Given the description of an element on the screen output the (x, y) to click on. 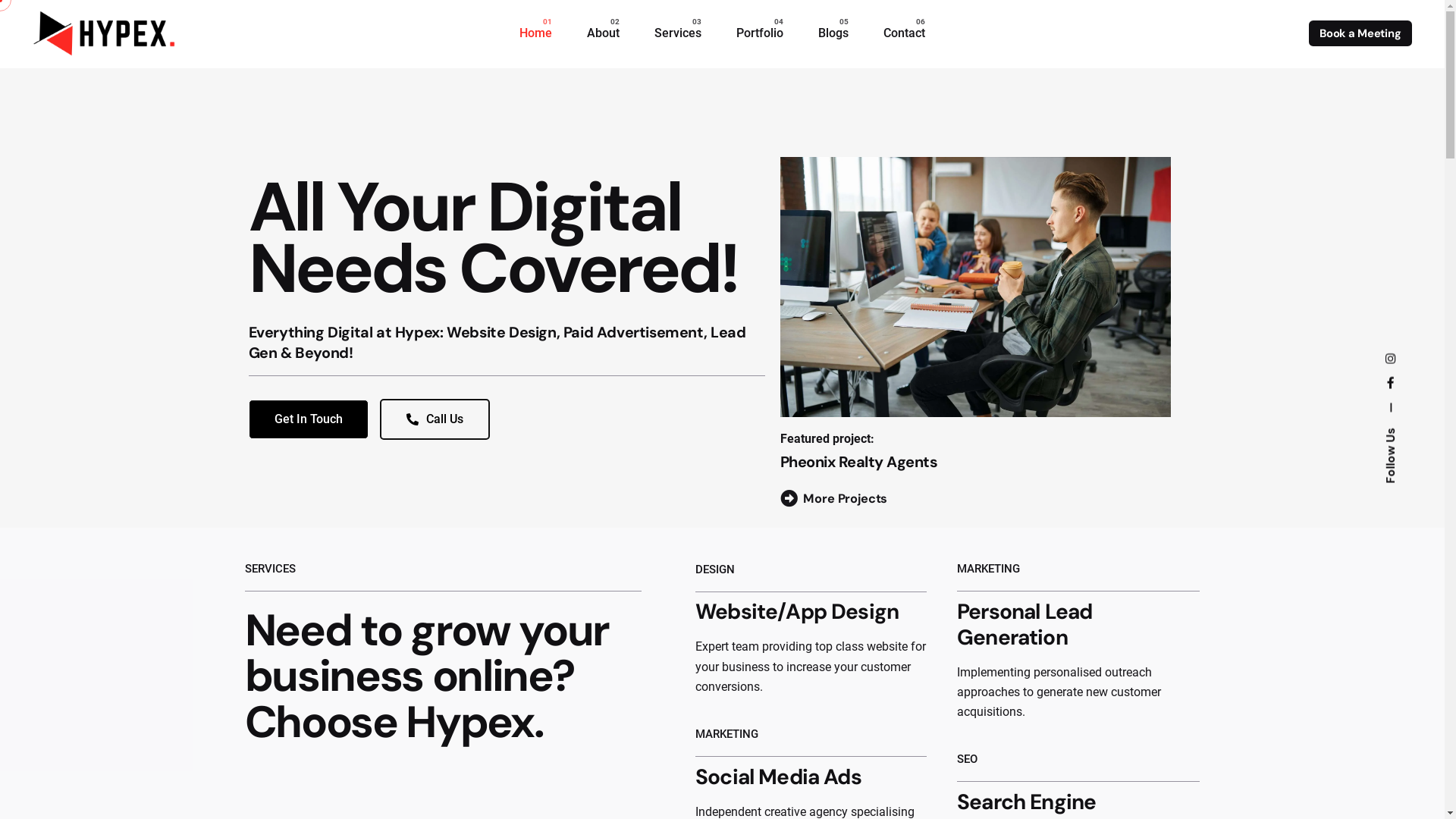
Blogs Element type: text (833, 33)
Portfolio Element type: text (759, 33)
Get In Touch Element type: text (308, 419)
Hypex.au Element type: hover (1387, 360)
About Element type: text (603, 33)
Hypex.au Element type: hover (1386, 386)
Book a Meeting Element type: text (1360, 33)
Pheonix Realty Agents Element type: text (859, 461)
Contact Element type: text (904, 33)
Social Media Ads Element type: text (778, 776)
More Projects Element type: text (834, 498)
Home Element type: text (535, 33)
Website/App Design Element type: text (796, 611)
Call Us Element type: text (434, 418)
Services Element type: text (677, 33)
Personal Lead Generation Element type: text (1024, 624)
